Given the description of an element on the screen output the (x, y) to click on. 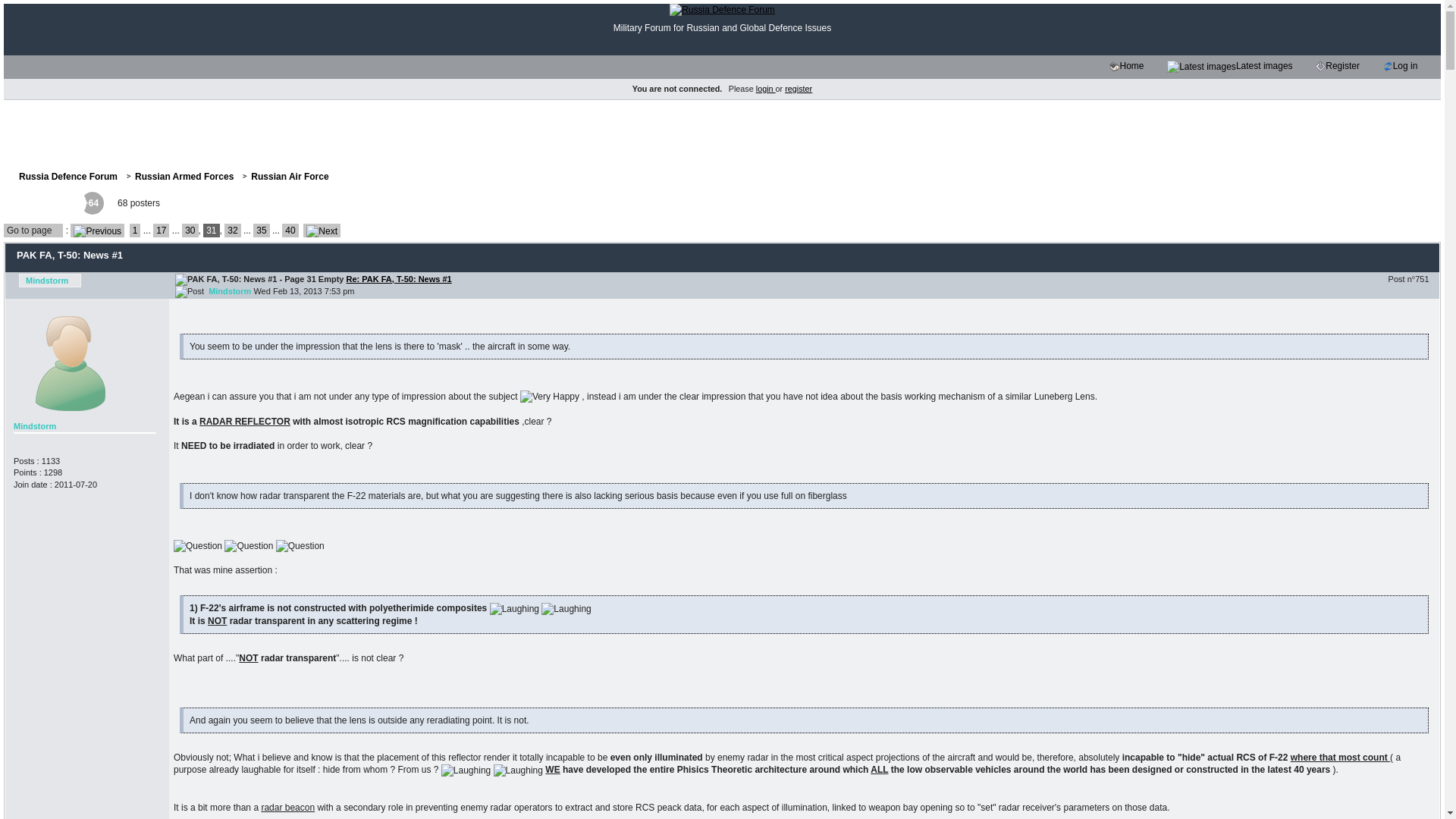
Latest images (1234, 66)
Register (1342, 66)
32 (232, 230)
Mindstorm (49, 280)
17 (160, 230)
Log in (1404, 66)
Go to page (33, 230)
Flanky (20, 202)
Home (1114, 66)
register (798, 88)
login (765, 88)
Post (188, 291)
Register (1320, 66)
30 (190, 230)
